Given the description of an element on the screen output the (x, y) to click on. 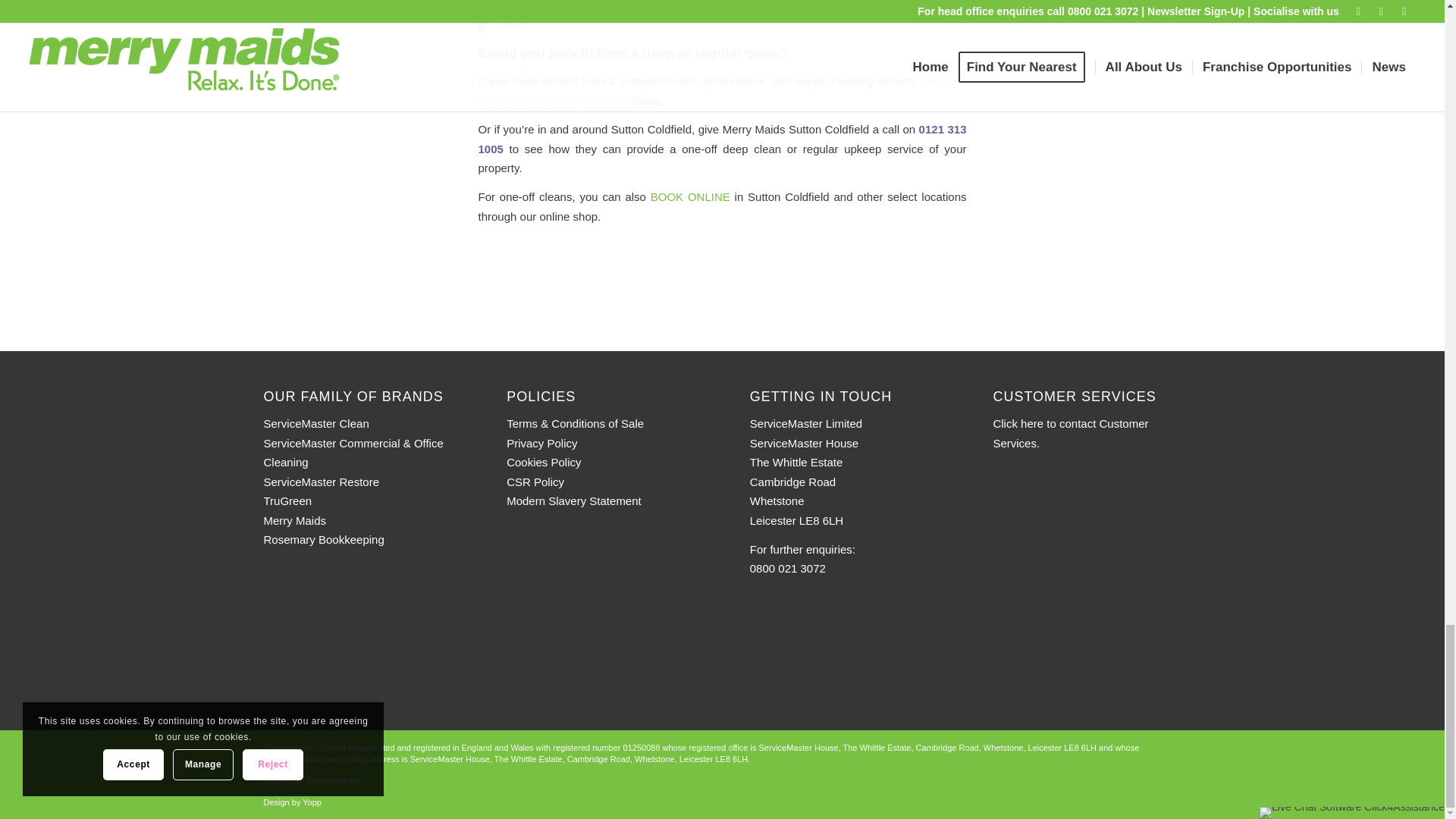
ServiceMaster Clean (316, 422)
Merry Maids (294, 520)
ServiceMaster Restore (321, 481)
TruGreen (288, 500)
